Given the description of an element on the screen output the (x, y) to click on. 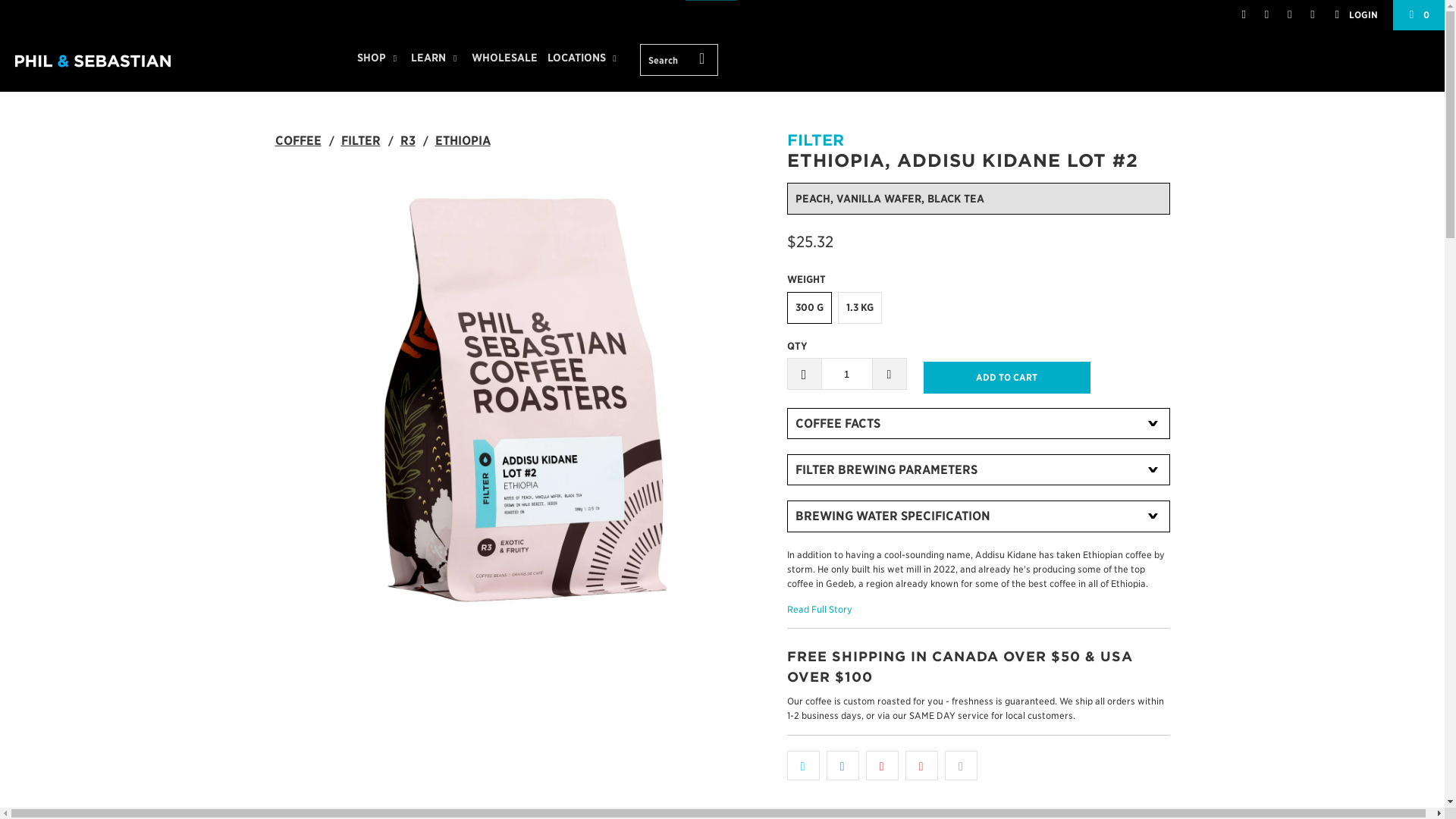
My Account  (1355, 15)
1 (846, 373)
Coffee (297, 140)
Filter (360, 140)
